Given the description of an element on the screen output the (x, y) to click on. 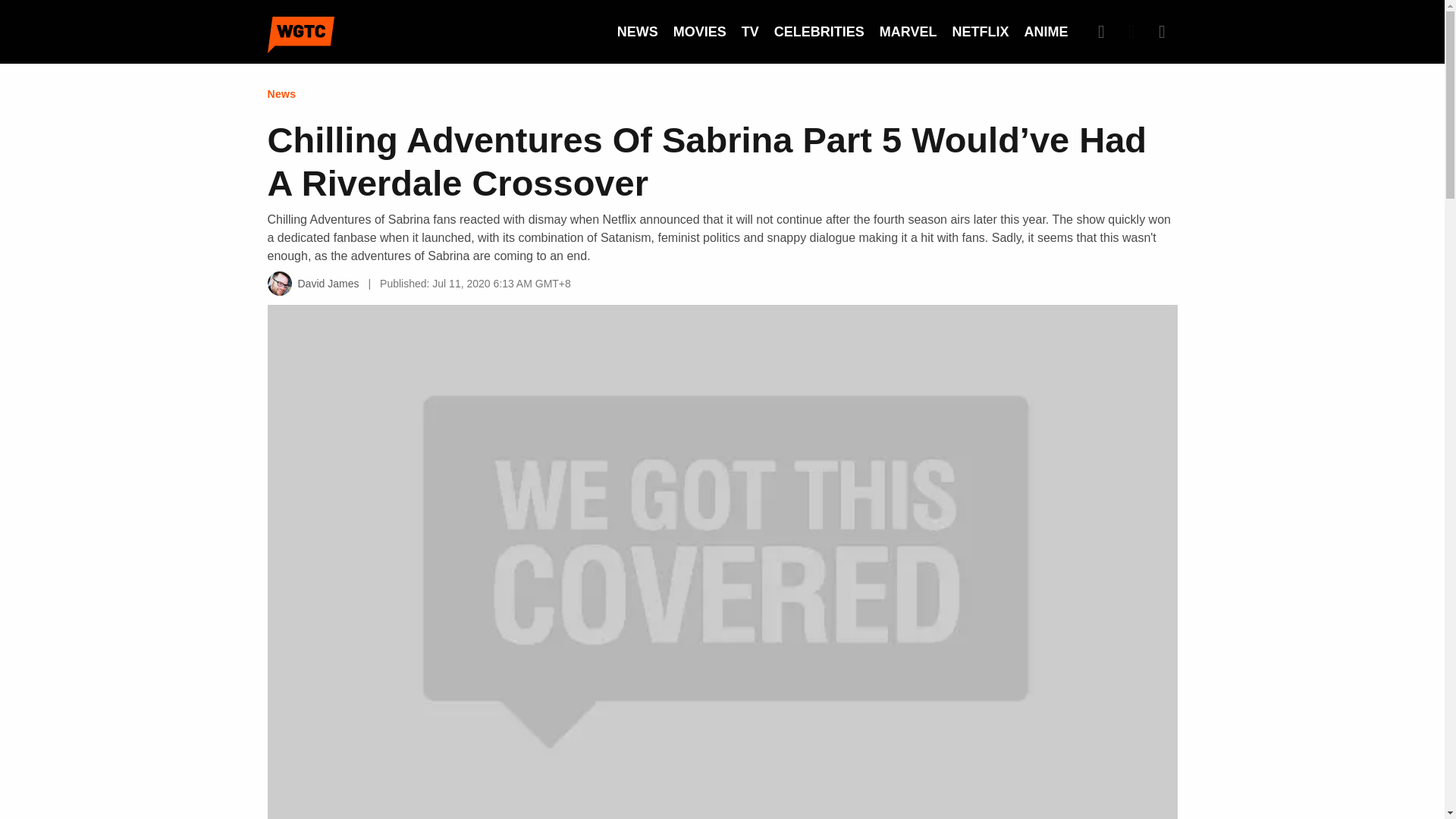
NETFLIX (980, 31)
TV (749, 31)
ANIME (1045, 31)
Expand Menu (1161, 31)
Dark Mode (1131, 31)
MOVIES (699, 31)
CELEBRITIES (819, 31)
MARVEL (908, 31)
Search (1101, 31)
NEWS (637, 31)
